Given the description of an element on the screen output the (x, y) to click on. 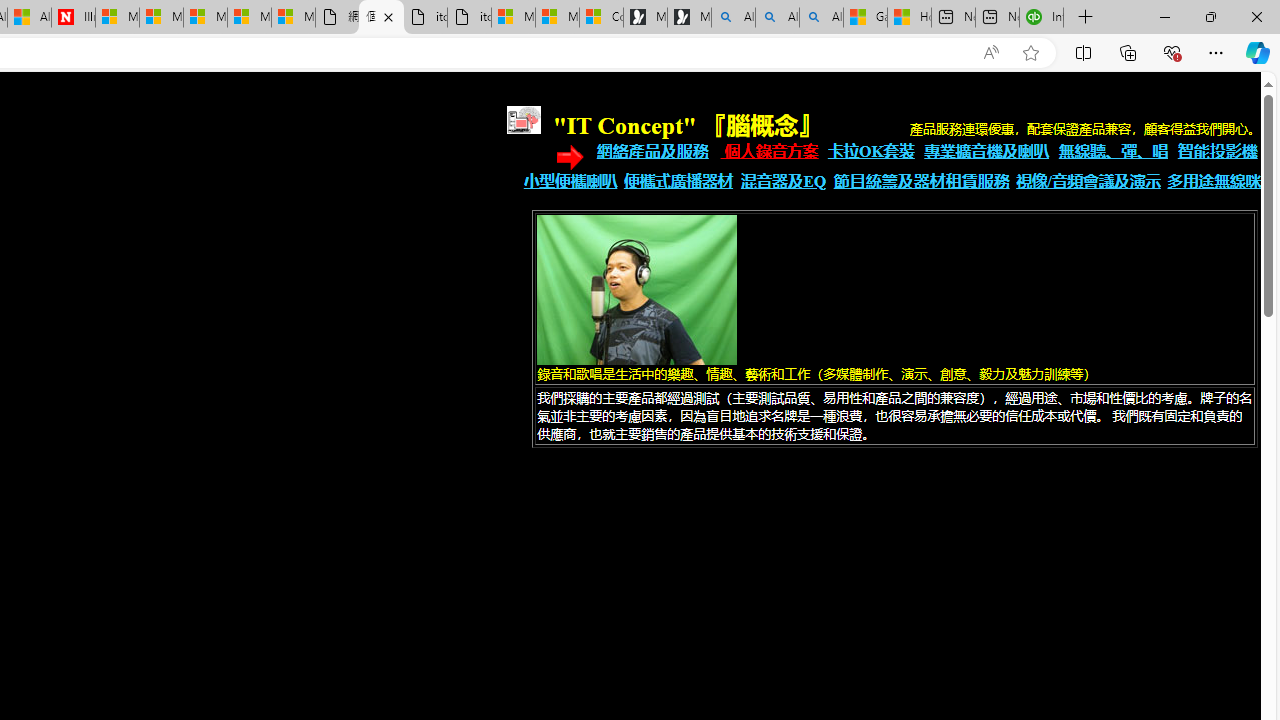
Alabama high school quarterback dies - Search (733, 17)
